Given the description of an element on the screen output the (x, y) to click on. 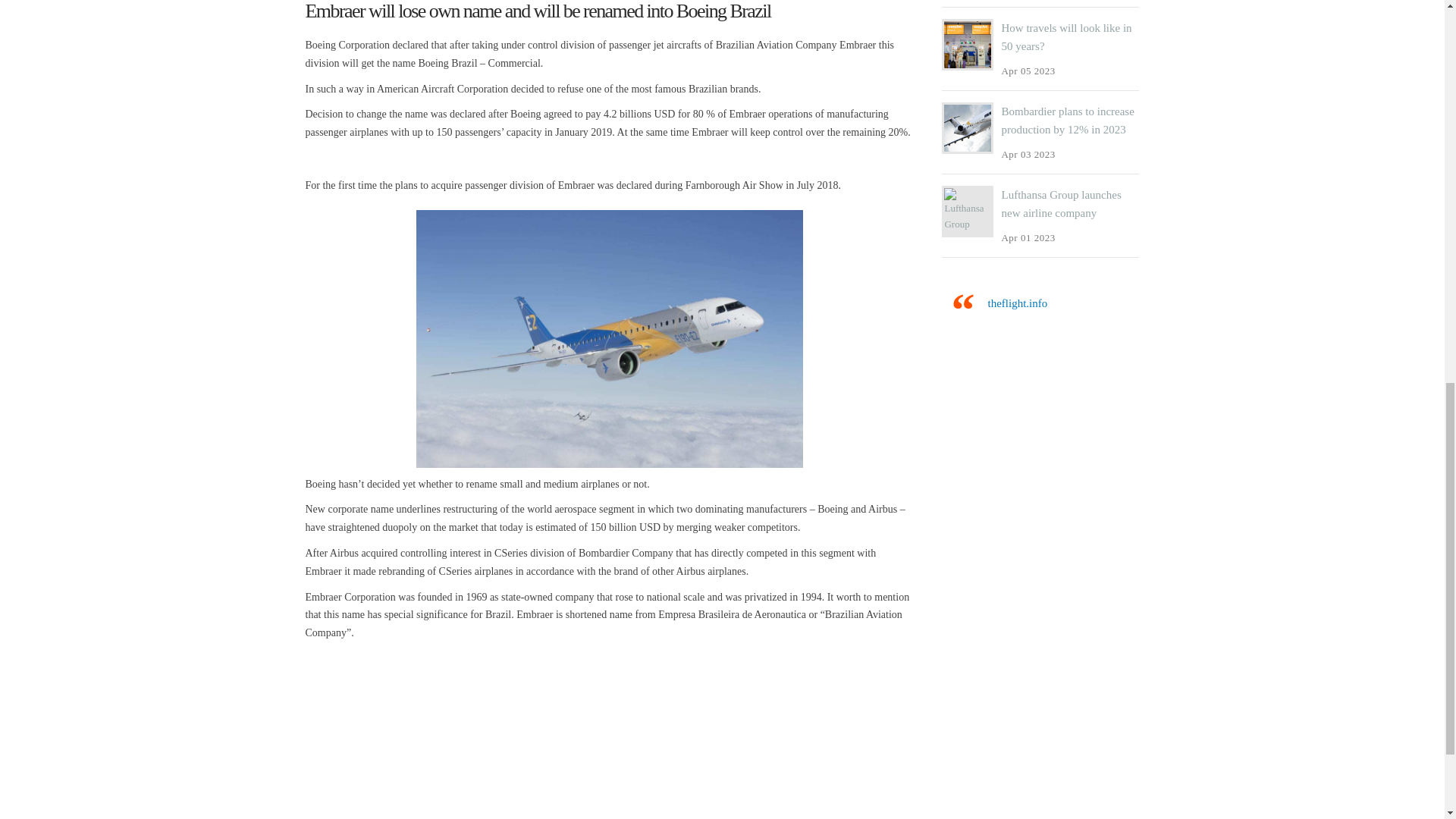
theflight.info (1016, 303)
Lufthansa Group launches new airline company (1061, 204)
How travels will look like in 50 years? (1066, 37)
